Given the description of an element on the screen output the (x, y) to click on. 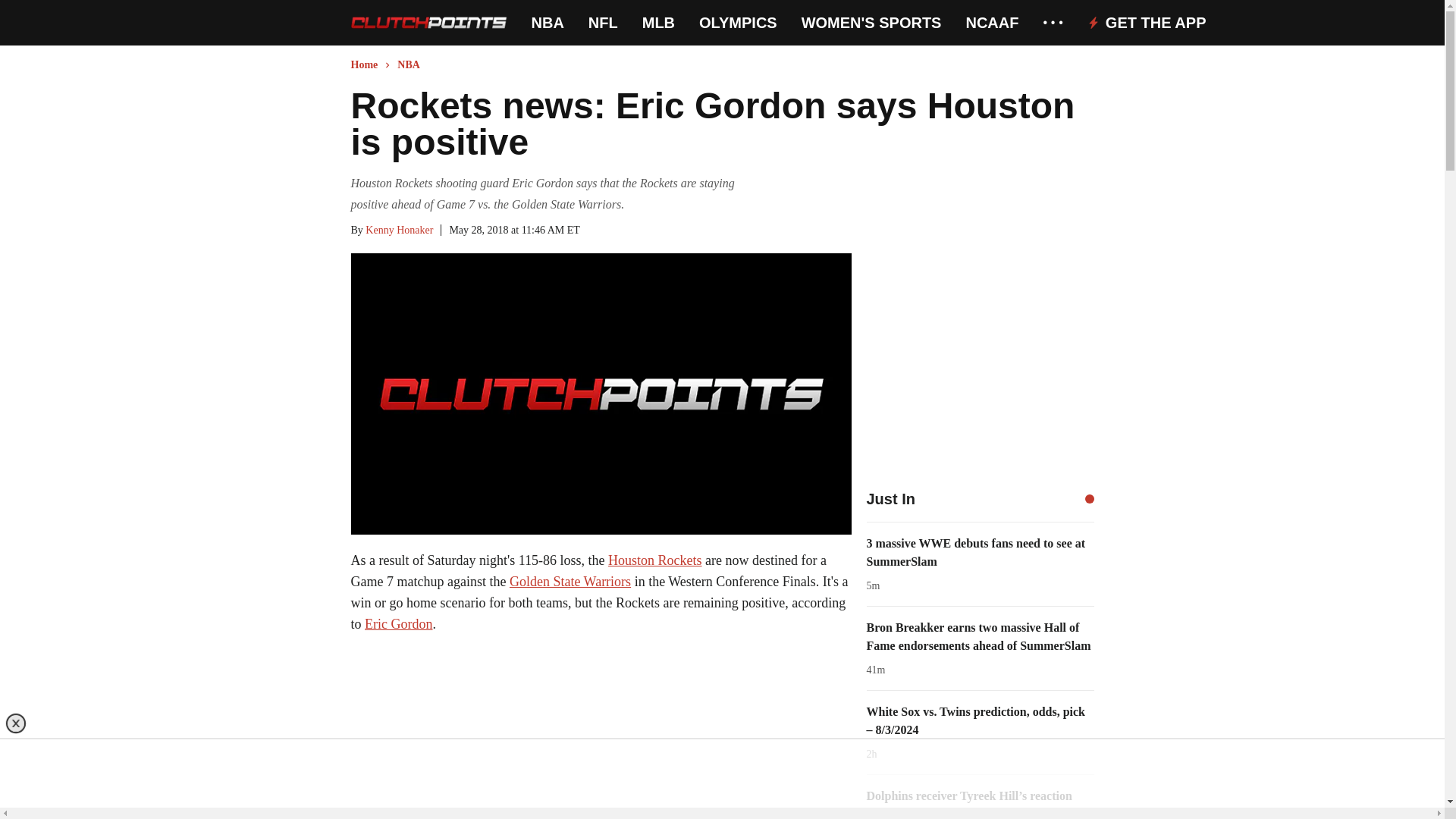
NBA (547, 22)
NFL (602, 22)
NFL (602, 22)
MLB (658, 22)
NBA (547, 22)
